Given the description of an element on the screen output the (x, y) to click on. 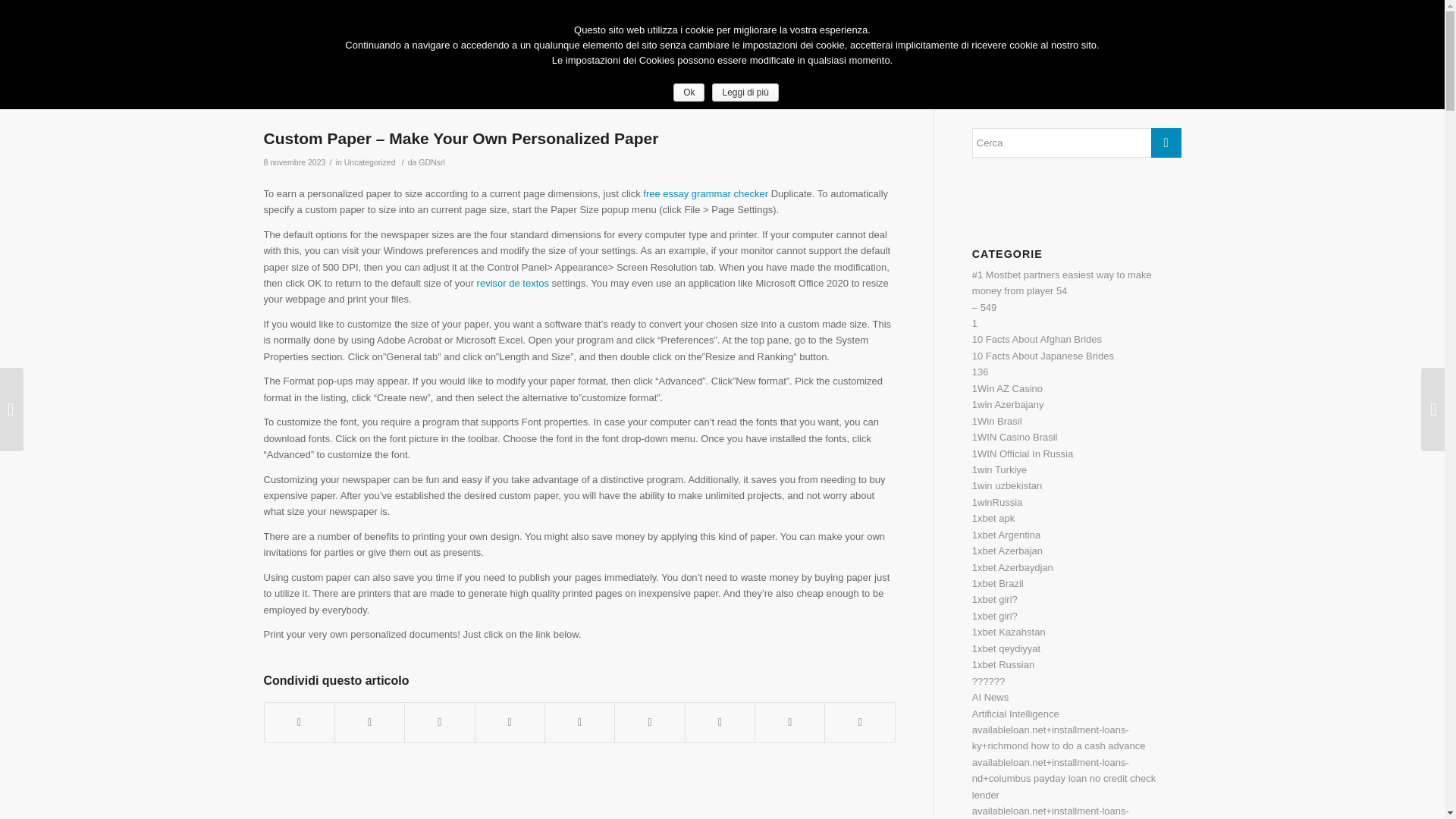
CONTATTI (1026, 56)
Uncategorized (369, 162)
GDNsrl (431, 162)
EVENTI (964, 56)
SERVIZI (837, 56)
HOME (721, 56)
revisor de textos (512, 283)
AZIENDA (777, 56)
free essay grammar checker (705, 193)
ENGLISH (593, 10)
PRODOTTI (902, 56)
LAVORA CON NOI (1114, 56)
Linkedin (1169, 11)
Facebook (1146, 11)
Articoli scritti da: GDNsrl (431, 162)
